Given the description of an element on the screen output the (x, y) to click on. 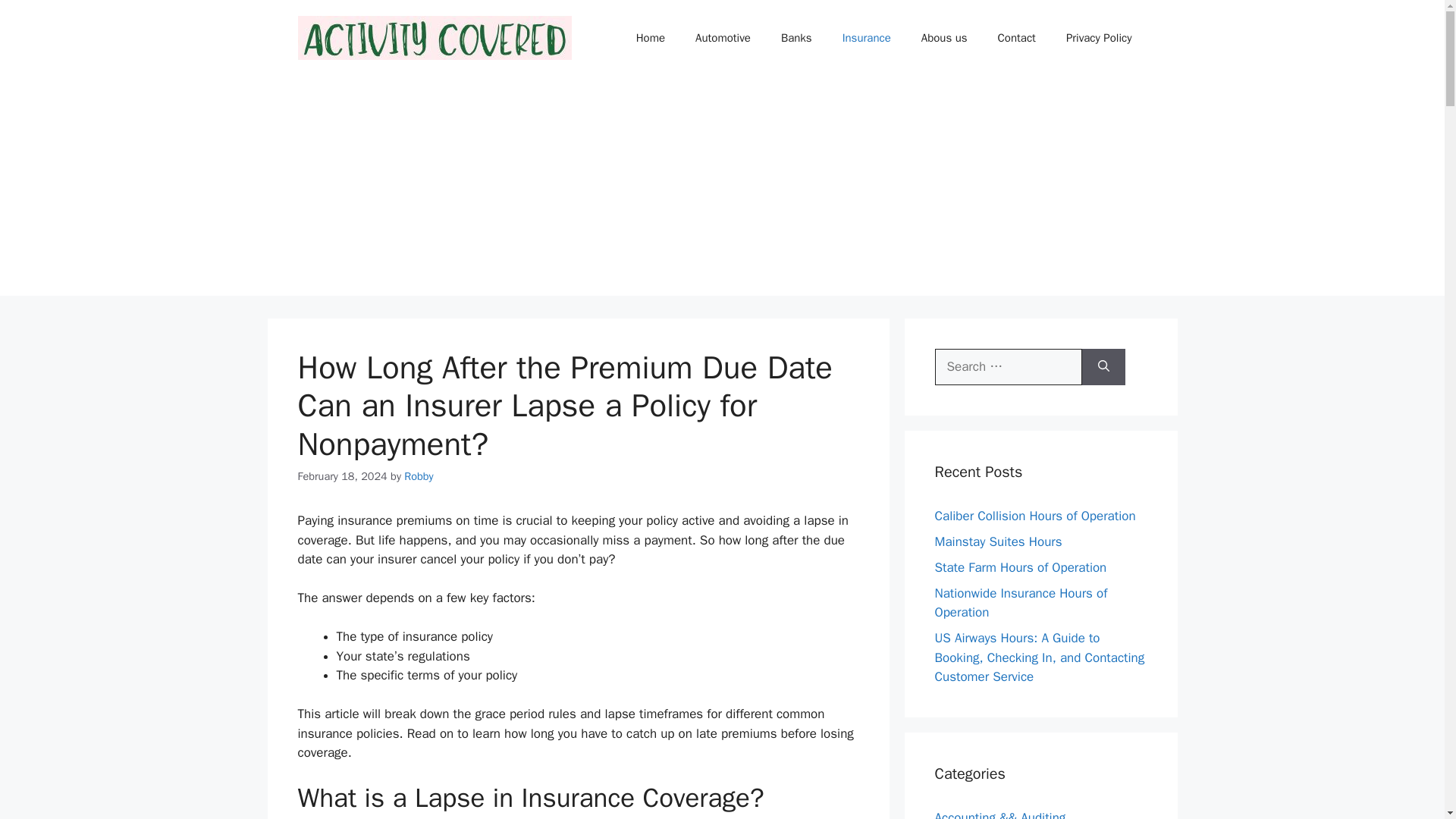
State Farm Hours of Operation (1020, 567)
Privacy Policy (1099, 37)
Robby (418, 476)
Abous us (943, 37)
Home (650, 37)
Banks (796, 37)
Caliber Collision Hours of Operation (1034, 515)
View all posts by Robby (418, 476)
ACTIVITYCOVERED (433, 37)
